Given the description of an element on the screen output the (x, y) to click on. 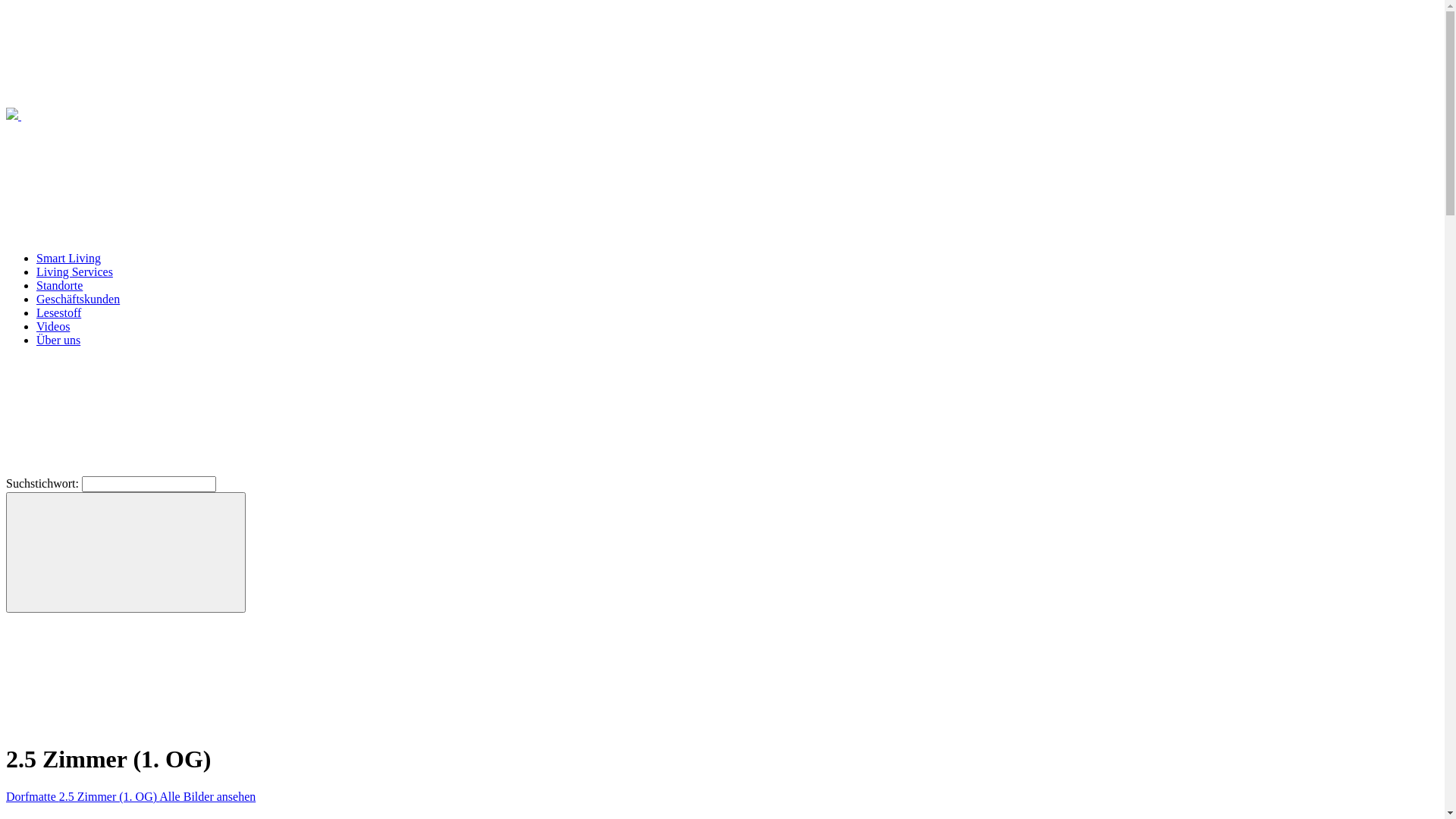
Dorfmatte 2.5 Zimmer (1. OG) Alle Bilder ansehen Element type: text (130, 796)
Suchen Element type: hover (125, 551)
Lesestoff Element type: text (58, 312)
Suche Element type: hover (119, 669)
Standorte Element type: text (59, 285)
Videos Element type: text (52, 326)
Smart Living Element type: text (68, 257)
Suche schliessen Element type: hover (119, 416)
Living Services Element type: text (74, 271)
Menu schliessen Element type: hover (119, 179)
